Given the description of an element on the screen output the (x, y) to click on. 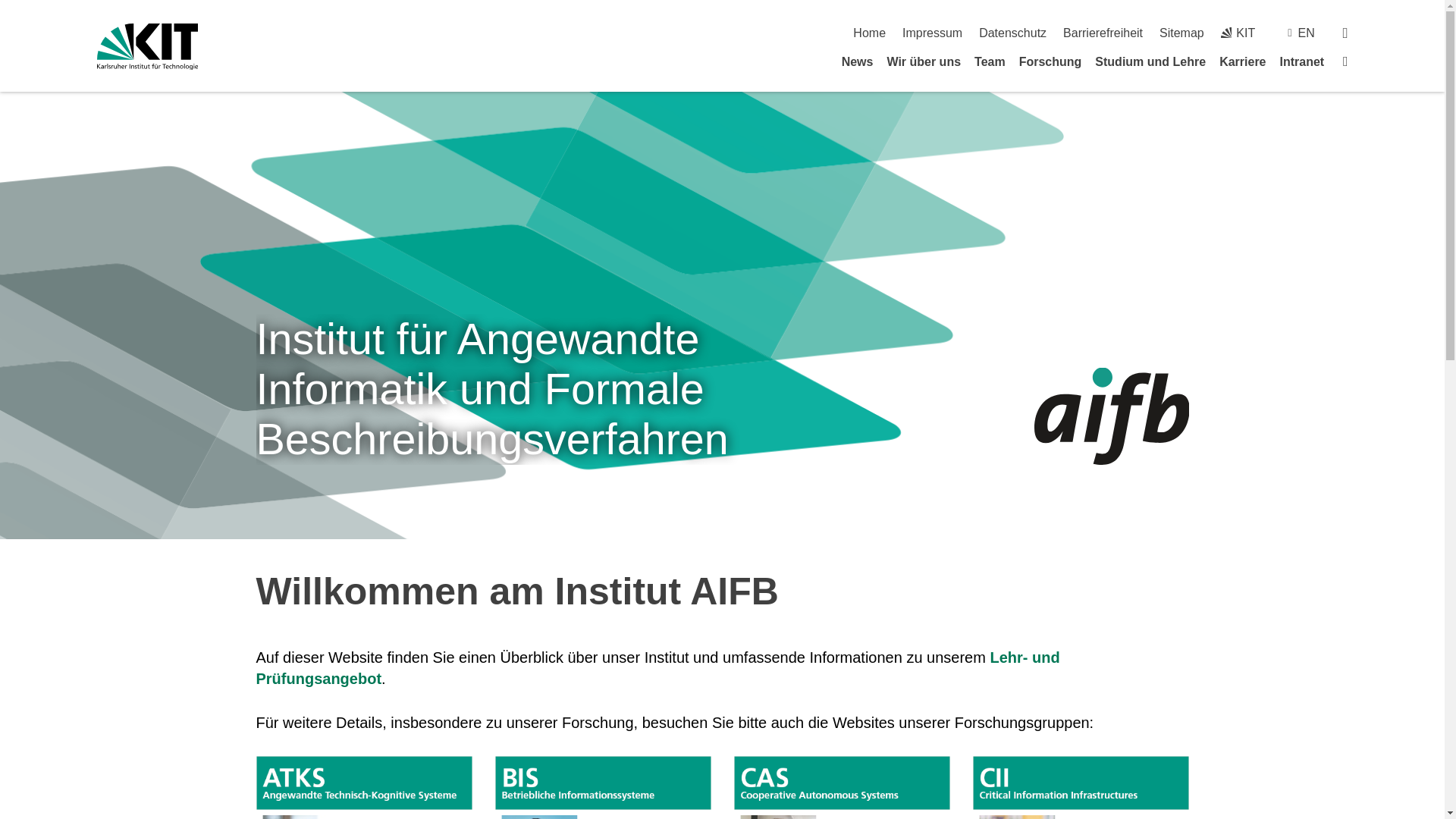
KIT-Homepage (1238, 32)
Datenschutz (1012, 32)
suchen (1345, 32)
Forschung (1050, 61)
Sitemap (1181, 32)
Impressum (932, 32)
suchen (1345, 32)
KIT (1238, 32)
Home (869, 32)
Startseite (869, 32)
News (857, 61)
Studium und Lehre (1149, 61)
Team (990, 61)
Barrierefreiheit (1102, 32)
KIT-Homepage (147, 46)
